Given the description of an element on the screen output the (x, y) to click on. 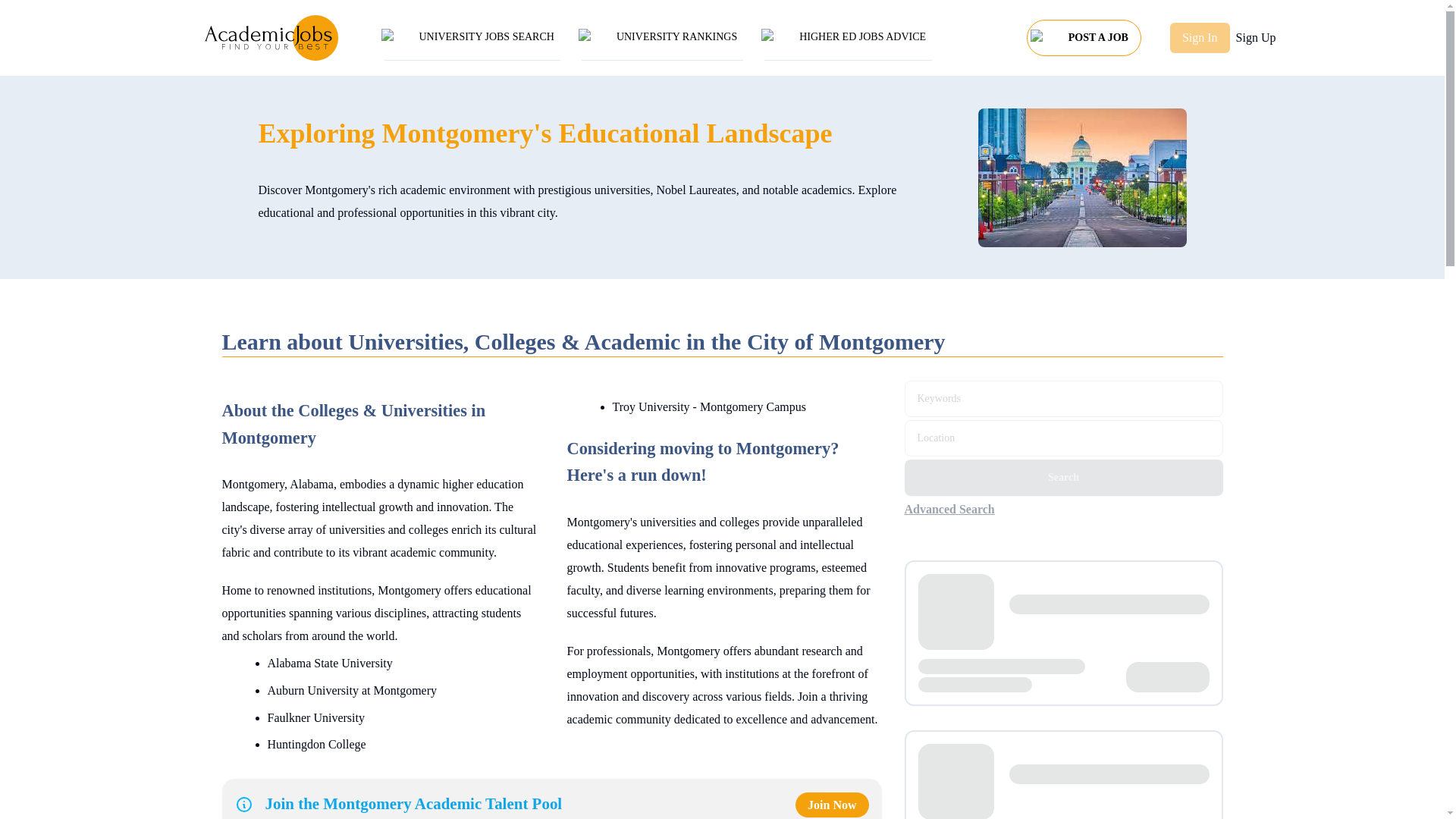
UNIVERSITY RANKINGS (662, 37)
UNIVERSITY JOBS SEARCH (471, 37)
Sign In (1200, 37)
POST A JOB (1083, 33)
Sign Up (1256, 37)
Join Now (830, 804)
HIGHER ED JOBS ADVICE (848, 37)
Advanced Search (957, 509)
Search (1063, 477)
